Given the description of an element on the screen output the (x, y) to click on. 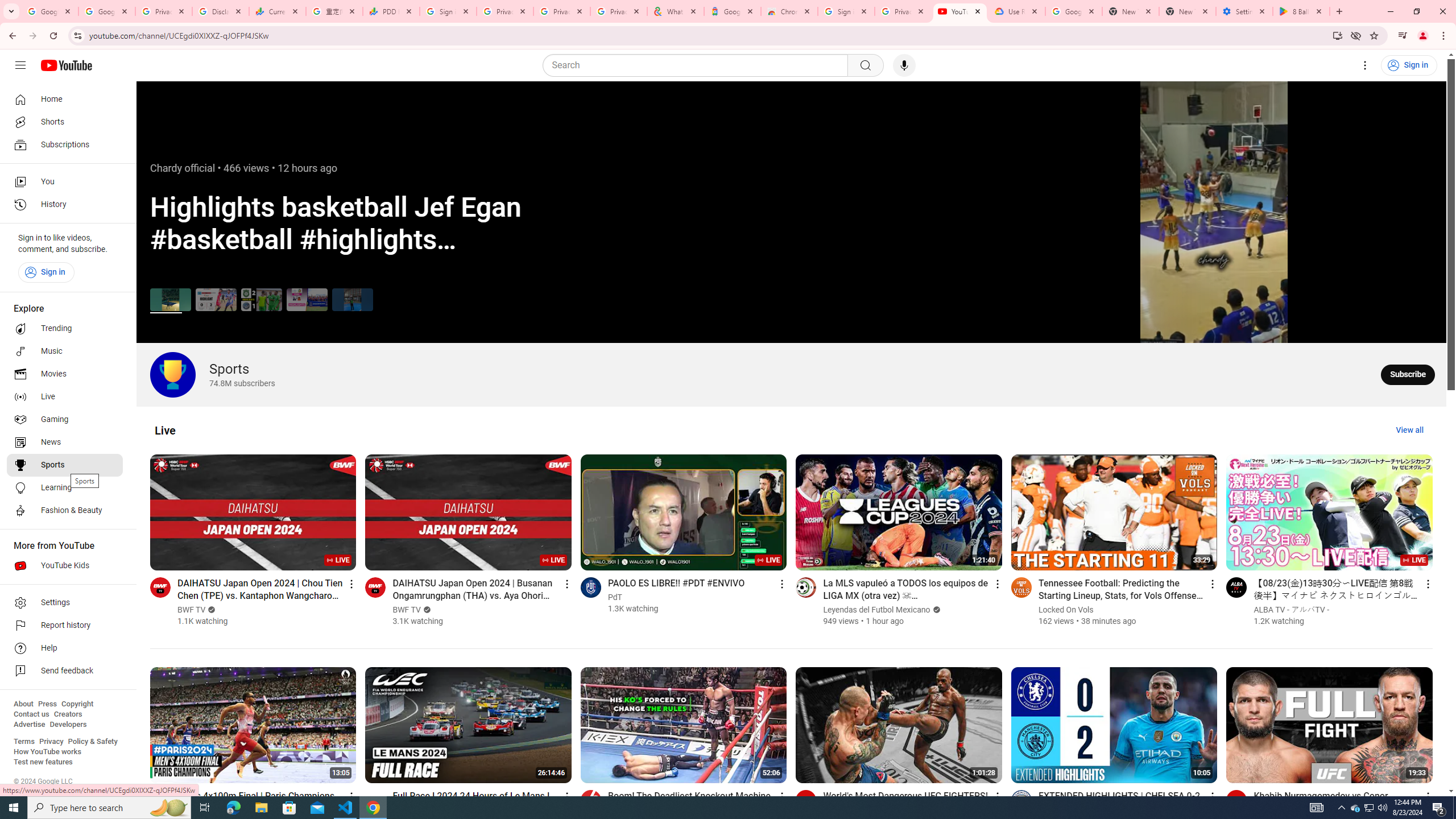
Advertise (29, 724)
Sports (64, 464)
Chrome Web Store - Color themes by Chrome (788, 11)
News (64, 441)
PdT (615, 597)
Verified (935, 610)
Music (64, 350)
